Given the description of an element on the screen output the (x, y) to click on. 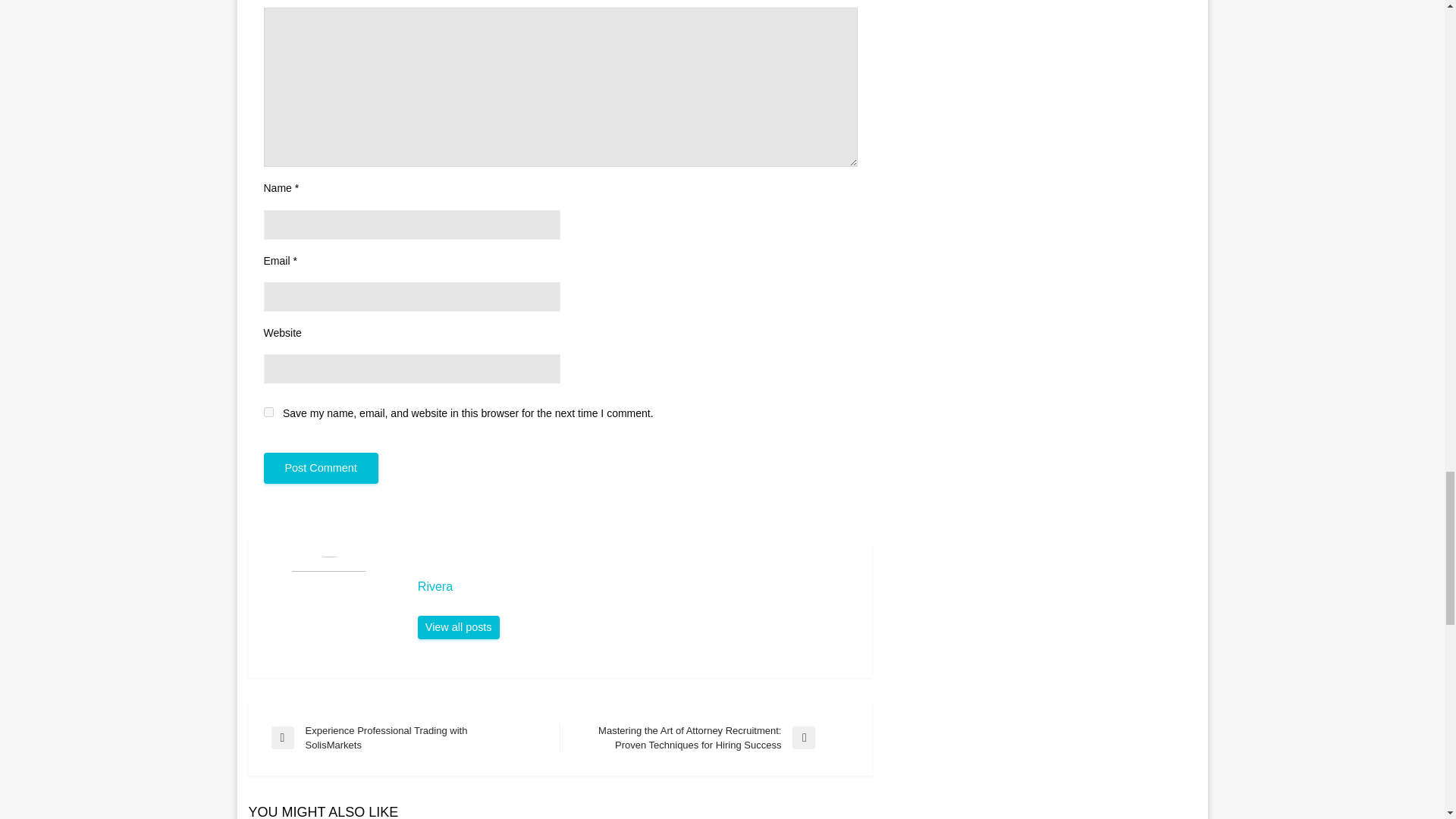
Post Comment (320, 468)
Rivera (458, 627)
Rivera (637, 586)
Rivera (637, 586)
yes (268, 411)
Post Comment (320, 468)
View all posts (458, 627)
